Given the description of an element on the screen output the (x, y) to click on. 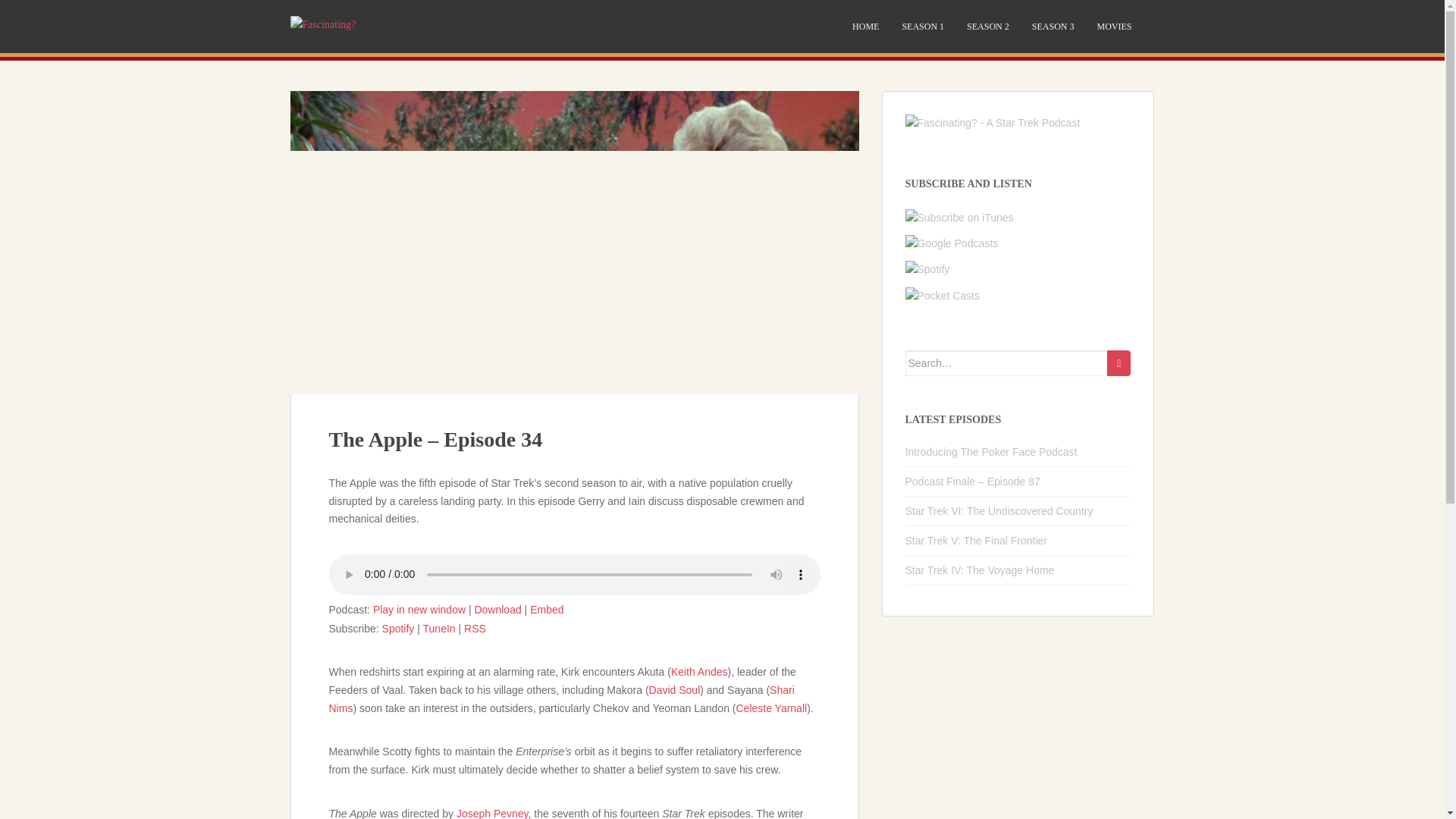
RSS (475, 628)
Subscribe on Spotify (397, 628)
Download (497, 609)
MOVIES (1113, 26)
Subscribe via RSS (475, 628)
SEASON 3 (1053, 26)
TuneIn (439, 628)
Keith Andes (699, 671)
Download (497, 609)
Spotify (397, 628)
